Given the description of an element on the screen output the (x, y) to click on. 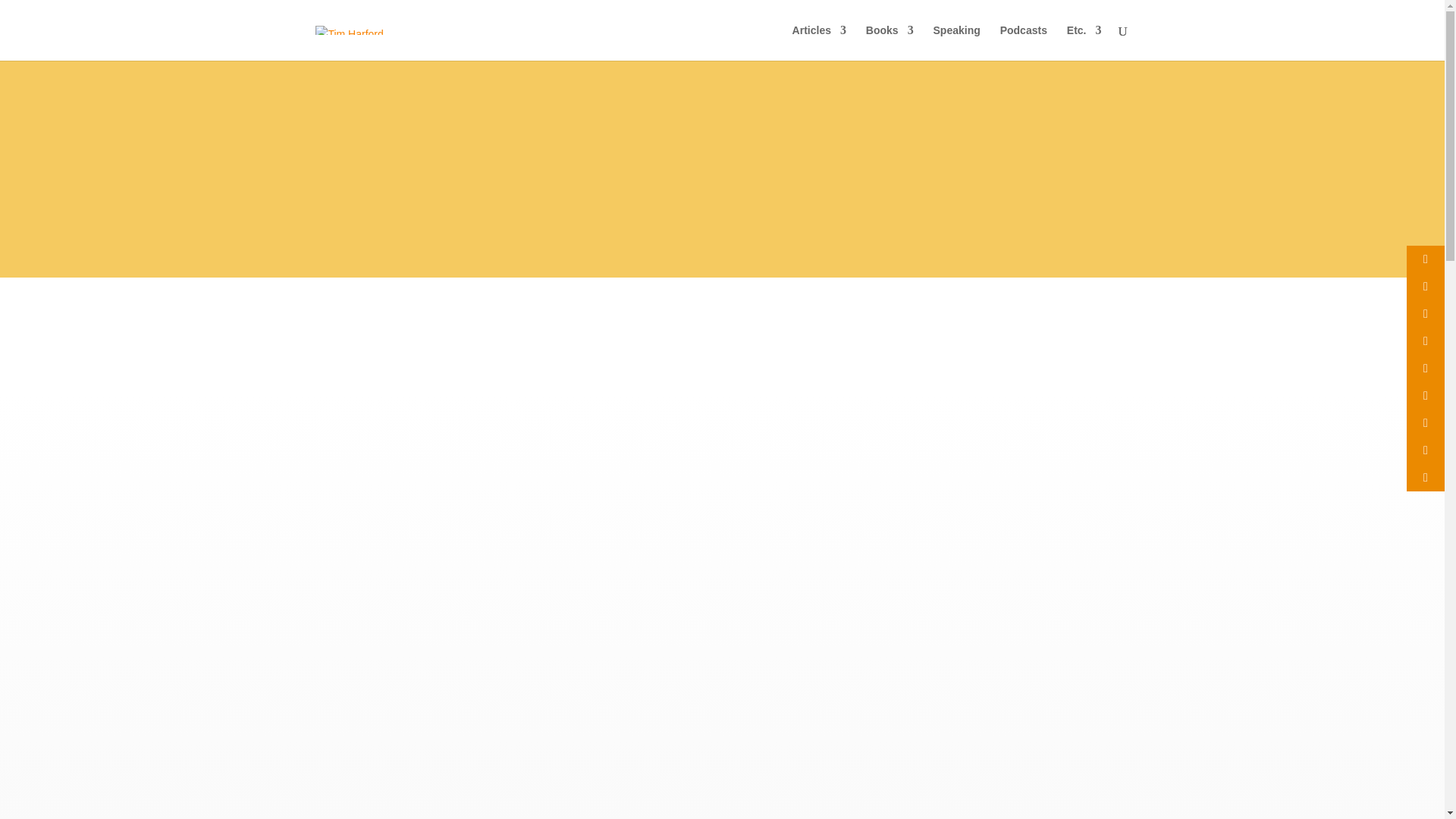
Podcasts (1023, 42)
Etc. (1084, 42)
Books (890, 42)
Articles (818, 42)
Speaking (956, 42)
